Given the description of an element on the screen output the (x, y) to click on. 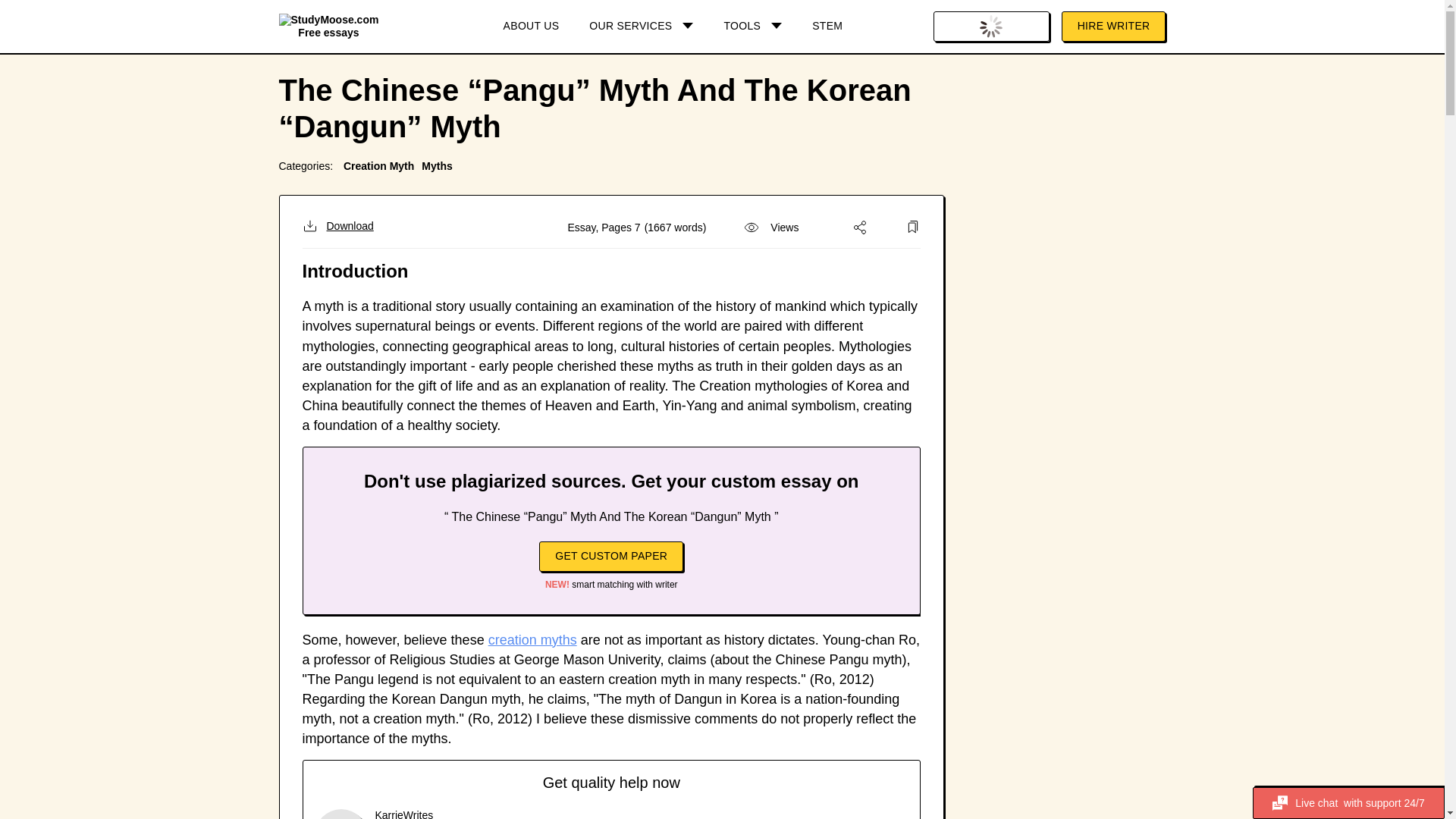
creation myths (531, 639)
GET CUSTOM PAPER (610, 556)
Creation Myth (378, 165)
HIRE WRITER (1113, 26)
TOOLS (751, 26)
STEM (826, 26)
OUR SERVICES (640, 26)
Download (336, 225)
Free essays (328, 26)
ABOUT US (531, 26)
